Given the description of an element on the screen output the (x, y) to click on. 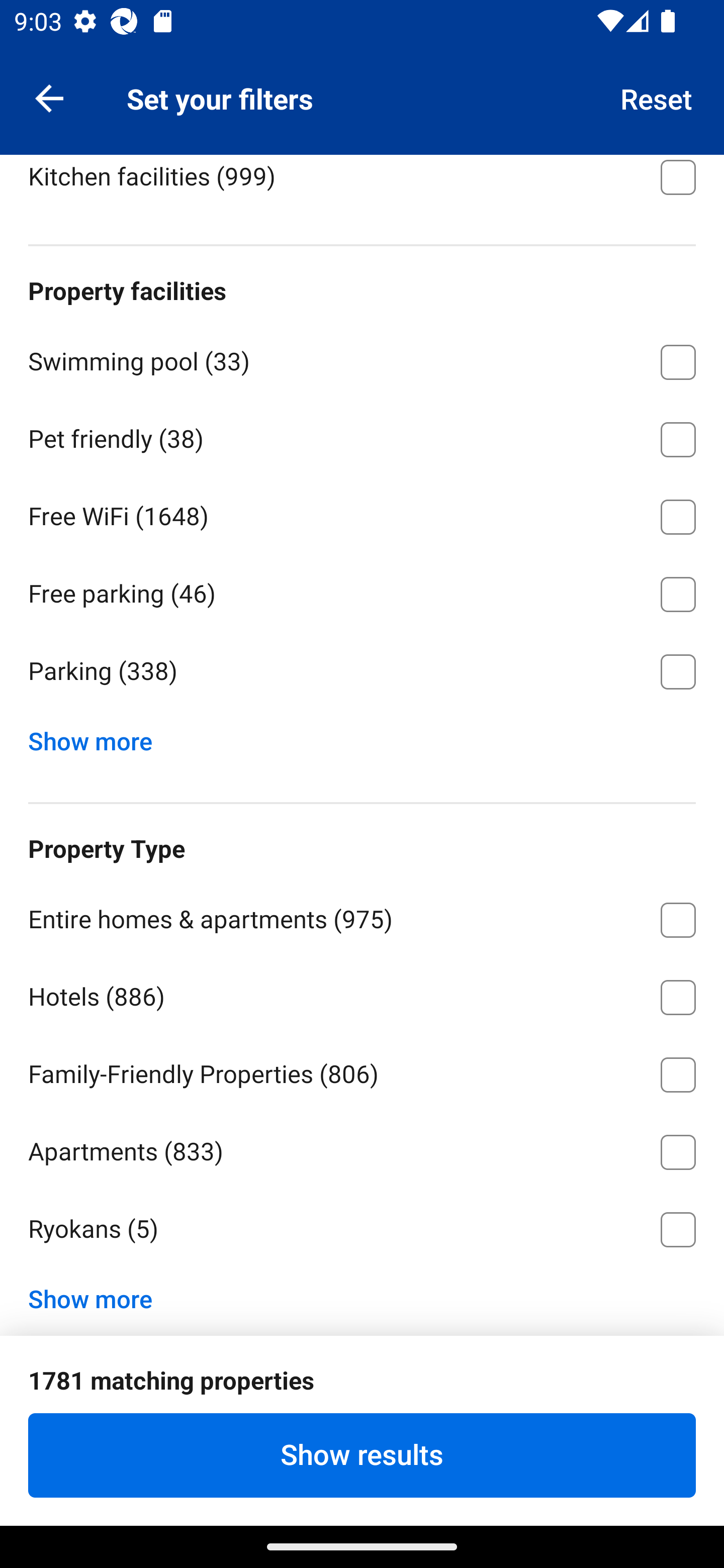
Navigate up (49, 97)
Breakfast & dinner included ⁦(10) (361, 96)
Reset (656, 97)
Kitchen facilities ⁦(999) (361, 185)
Swimming pool ⁦(33) (361, 358)
Pet friendly ⁦(38) (361, 436)
Free WiFi ⁦(1648) (361, 513)
Free parking ⁦(46) (361, 590)
Parking ⁦(338) (361, 671)
Show more (97, 736)
Entire homes & apartments ⁦(975) (361, 916)
Hotels ⁦(886) (361, 993)
Family-Friendly Properties ⁦(806) (361, 1071)
Apartments ⁦(833) (361, 1148)
Ryokans ⁦(5) (361, 1228)
Show more (97, 1294)
Show results (361, 1454)
